Given the description of an element on the screen output the (x, y) to click on. 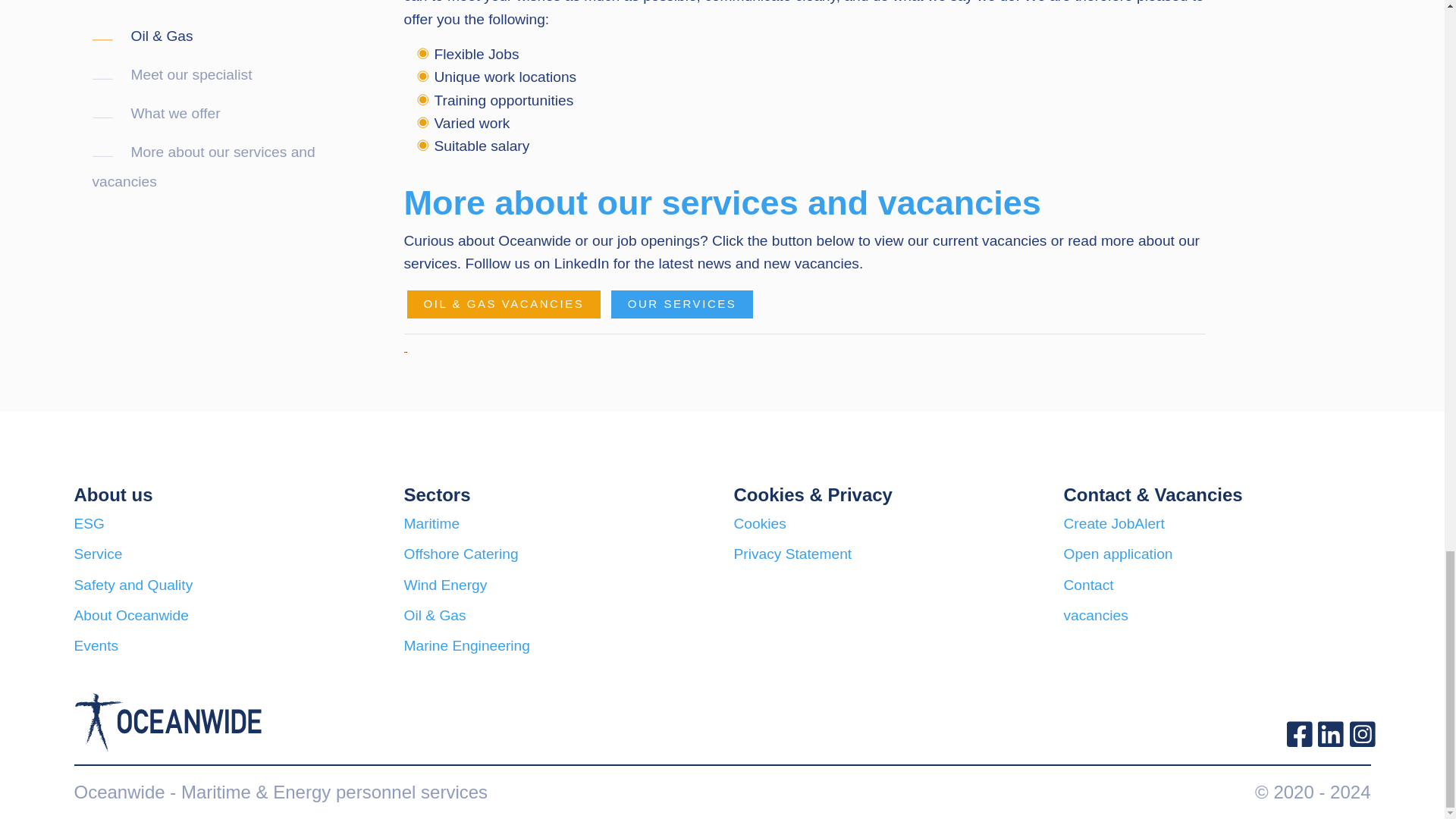
About Oceanwide (131, 615)
OUR SERVICES (682, 304)
Service (98, 553)
ESG (89, 523)
Safety and Quality (133, 584)
